Given the description of an element on the screen output the (x, y) to click on. 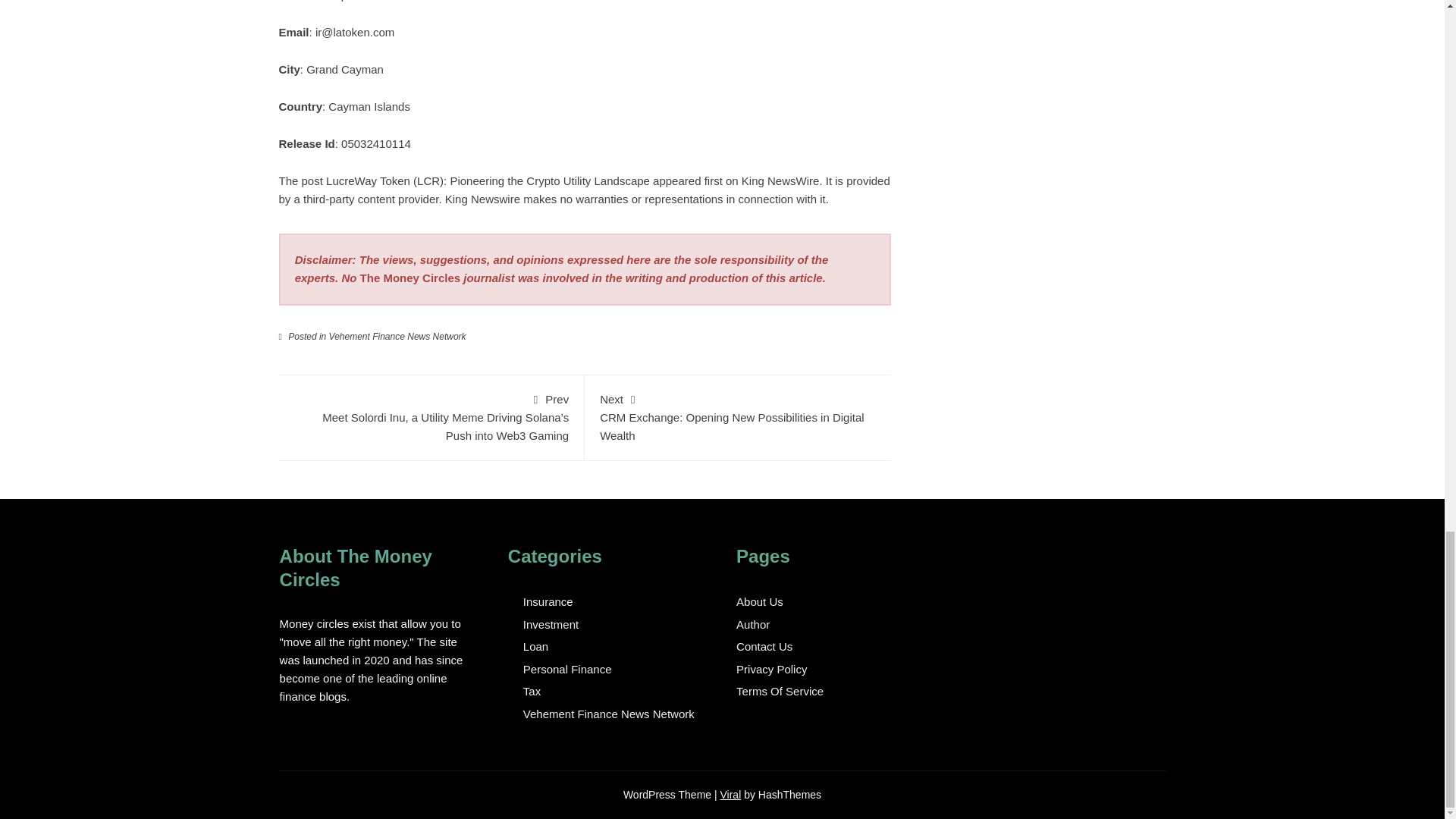
Download Viral (730, 794)
King NewsWire (780, 180)
Vehement Finance News Network (397, 336)
